Given the description of an element on the screen output the (x, y) to click on. 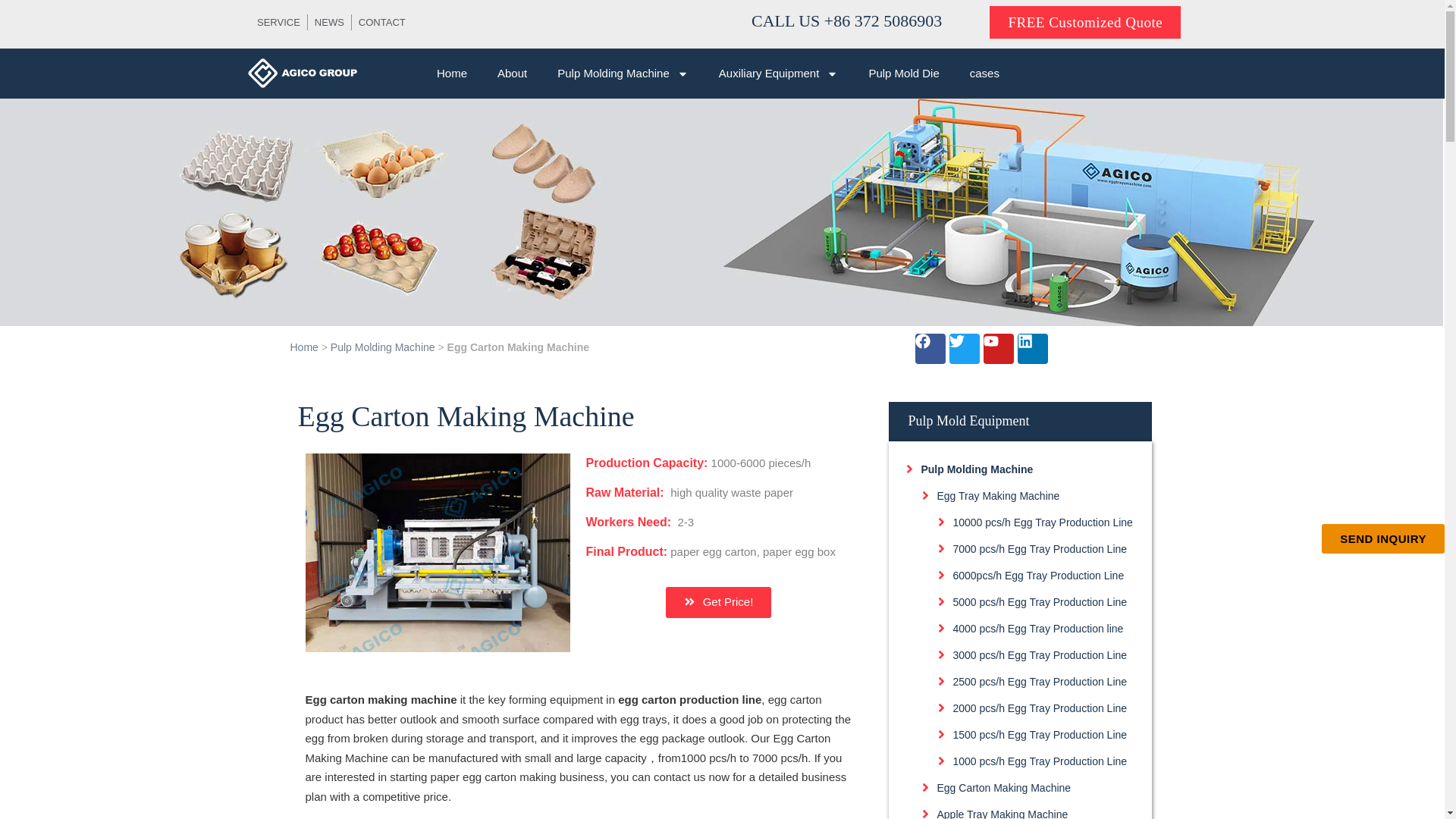
About (511, 73)
Auxiliary Equipment (778, 73)
Home (451, 73)
Pulp Molding Machine (622, 73)
NEWS (328, 22)
FREE Customized Quote (1085, 21)
CONTACT (382, 22)
SERVICE (278, 22)
